Given the description of an element on the screen output the (x, y) to click on. 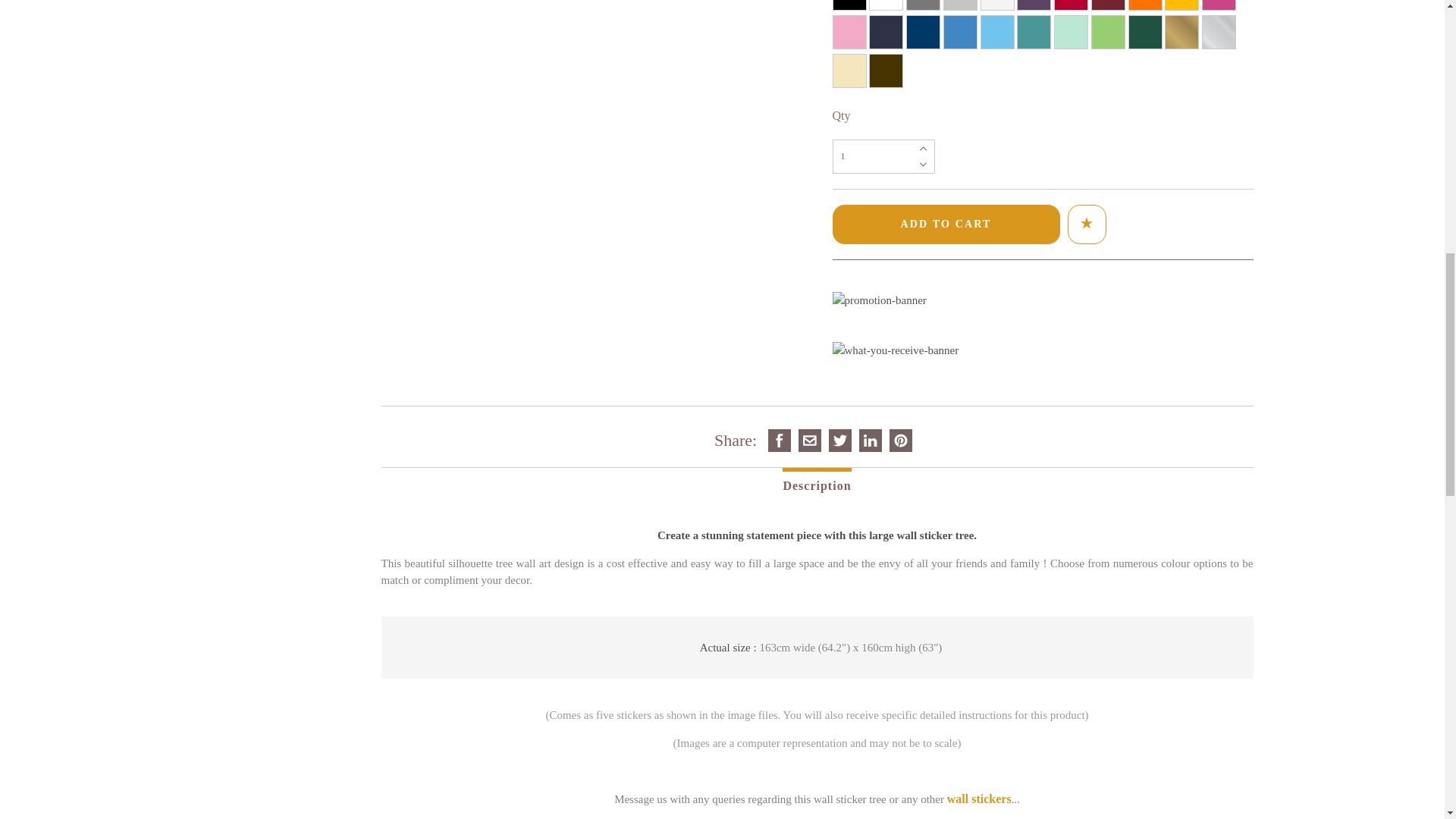
Share on Facebook (779, 440)
Add To Cart (945, 224)
Share on Pinterest (900, 440)
Share on Twitter (839, 440)
Share on LinkedIn (870, 440)
Share by email (809, 440)
1 (883, 156)
Add to wishlist (1086, 223)
